Given the description of an element on the screen output the (x, y) to click on. 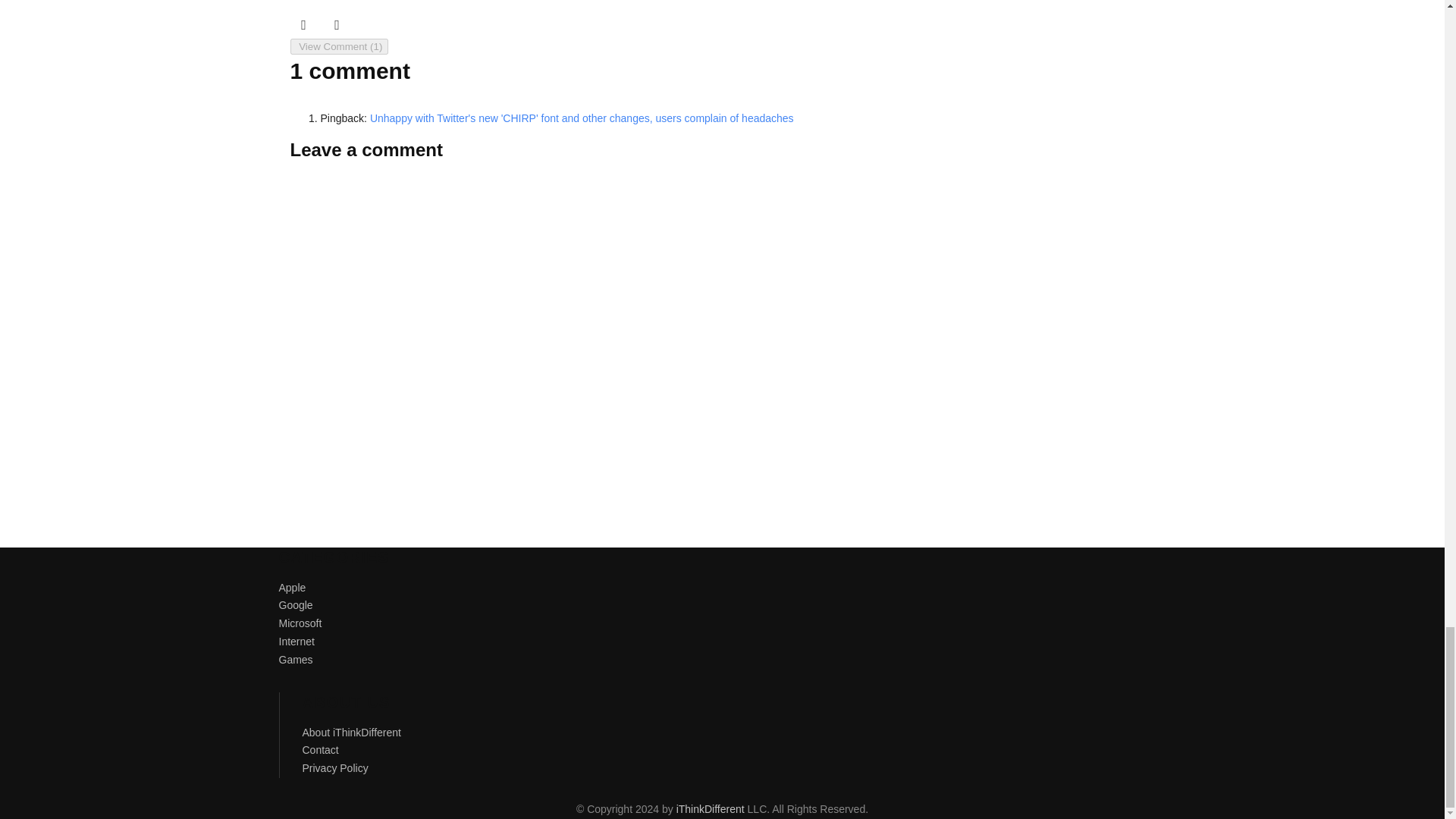
Follow me on Facebook (303, 23)
Send me an email! (336, 23)
